Given the description of an element on the screen output the (x, y) to click on. 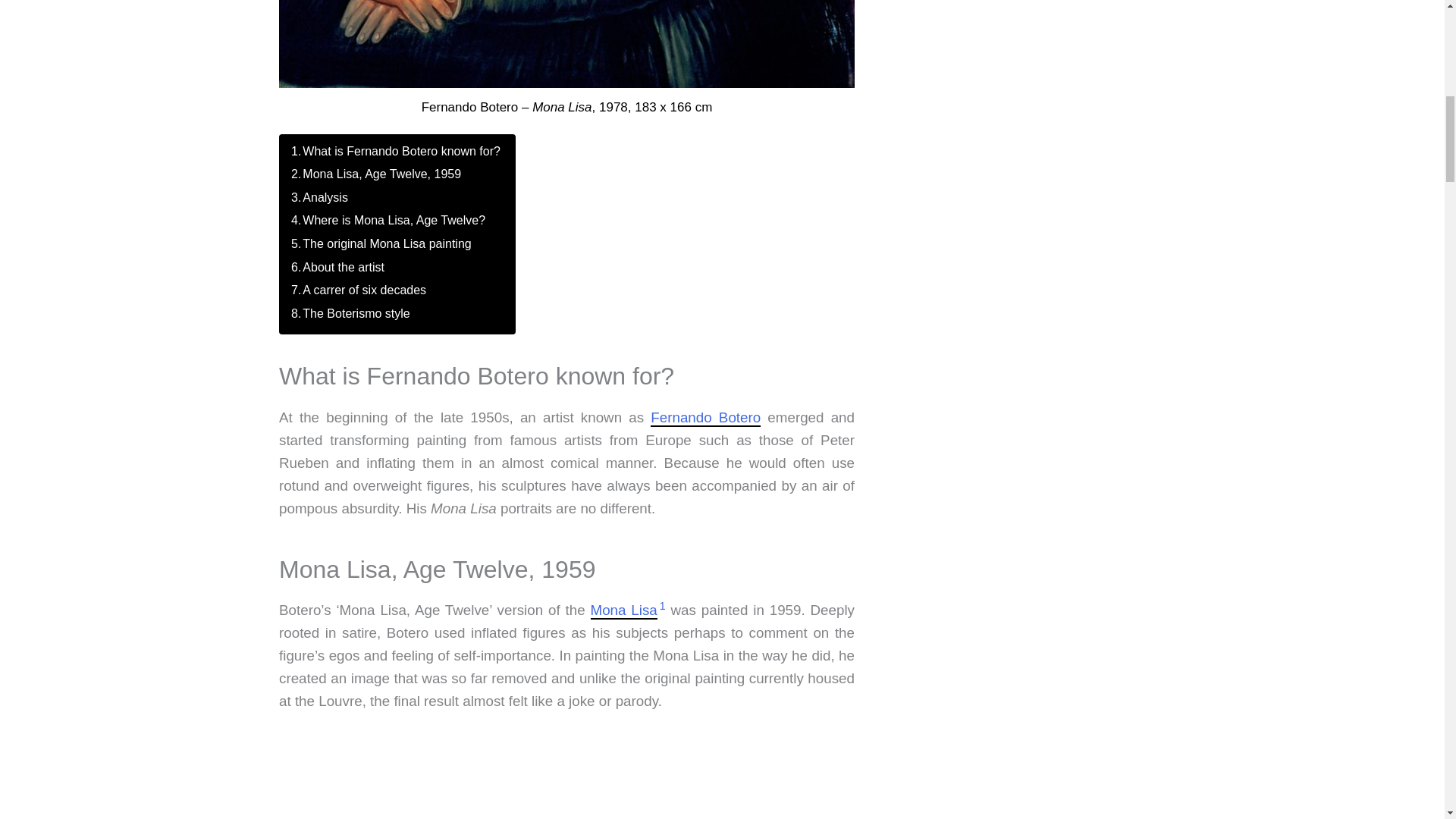
The original Mona Lisa painting (386, 243)
The Boterismo style (355, 313)
Where is Mona Lisa, Age Twelve? (393, 219)
Analysis (324, 196)
What is Fernando Botero known for? (401, 151)
Mona Lisa (622, 610)
About the artist (343, 267)
Fernando Botero (705, 417)
Mona Lisa, Age Twelve, 1959 (381, 173)
A carrer of six decades (364, 289)
